Given the description of an element on the screen output the (x, y) to click on. 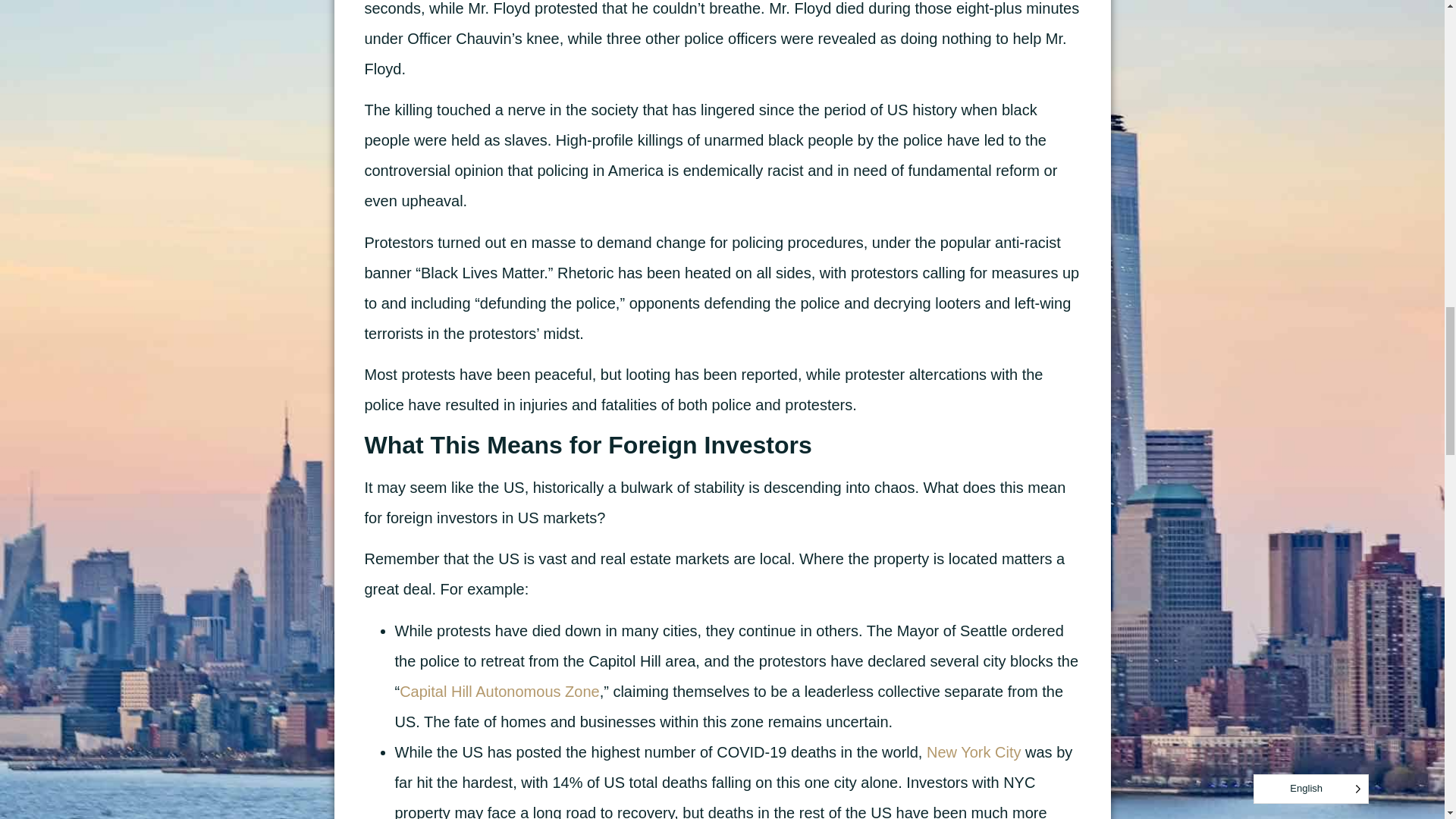
Capital Hill Autonomous Zone (498, 691)
New York City (974, 751)
